Given the description of an element on the screen output the (x, y) to click on. 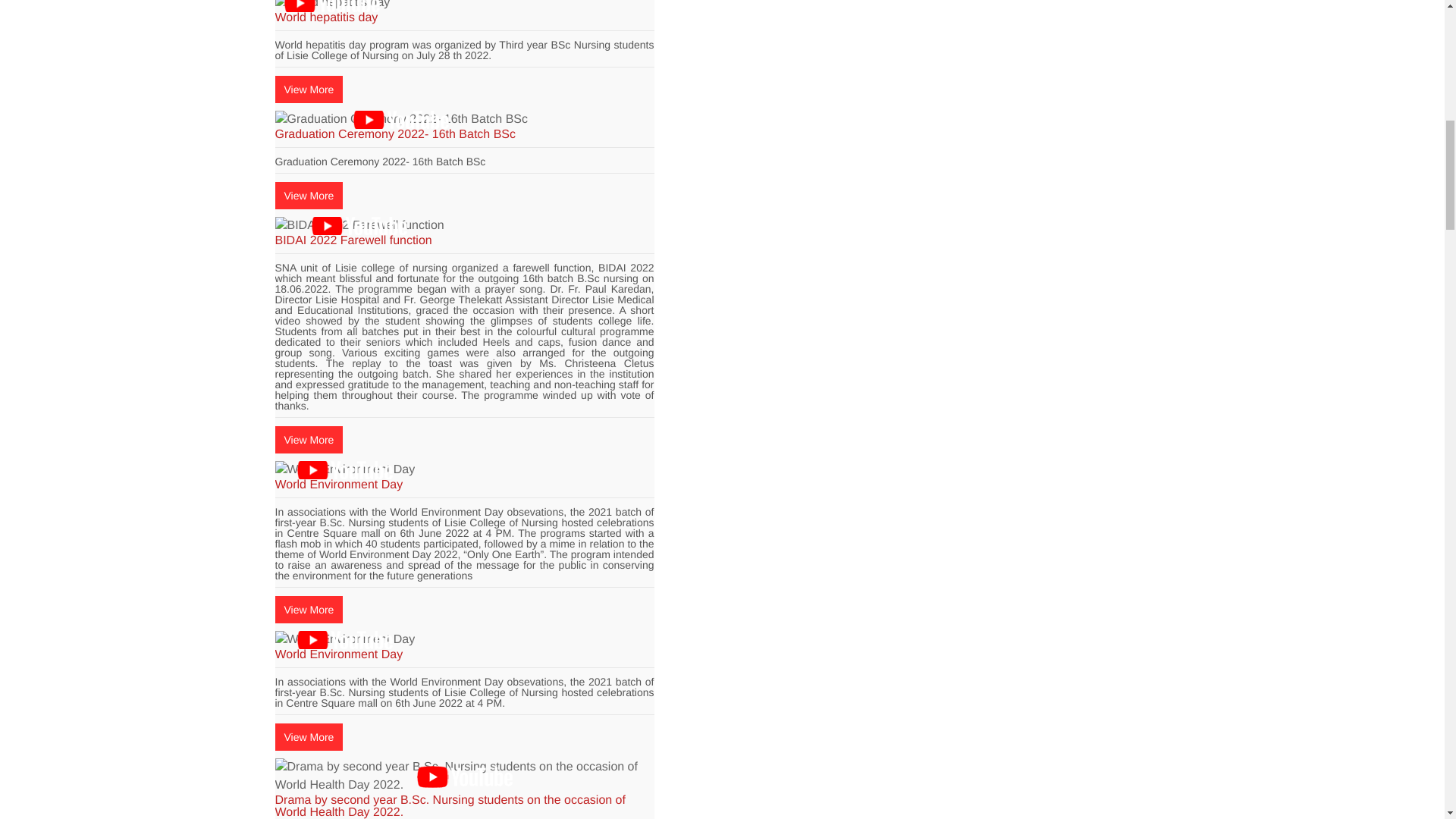
World Environment Day (344, 470)
Graduation Ceremony 2022- 16th Batch BSc (401, 119)
World hepatitis day (332, 6)
World Environment Day (344, 639)
BIDAI 2022 Farewell function (359, 226)
